Given the description of an element on the screen output the (x, y) to click on. 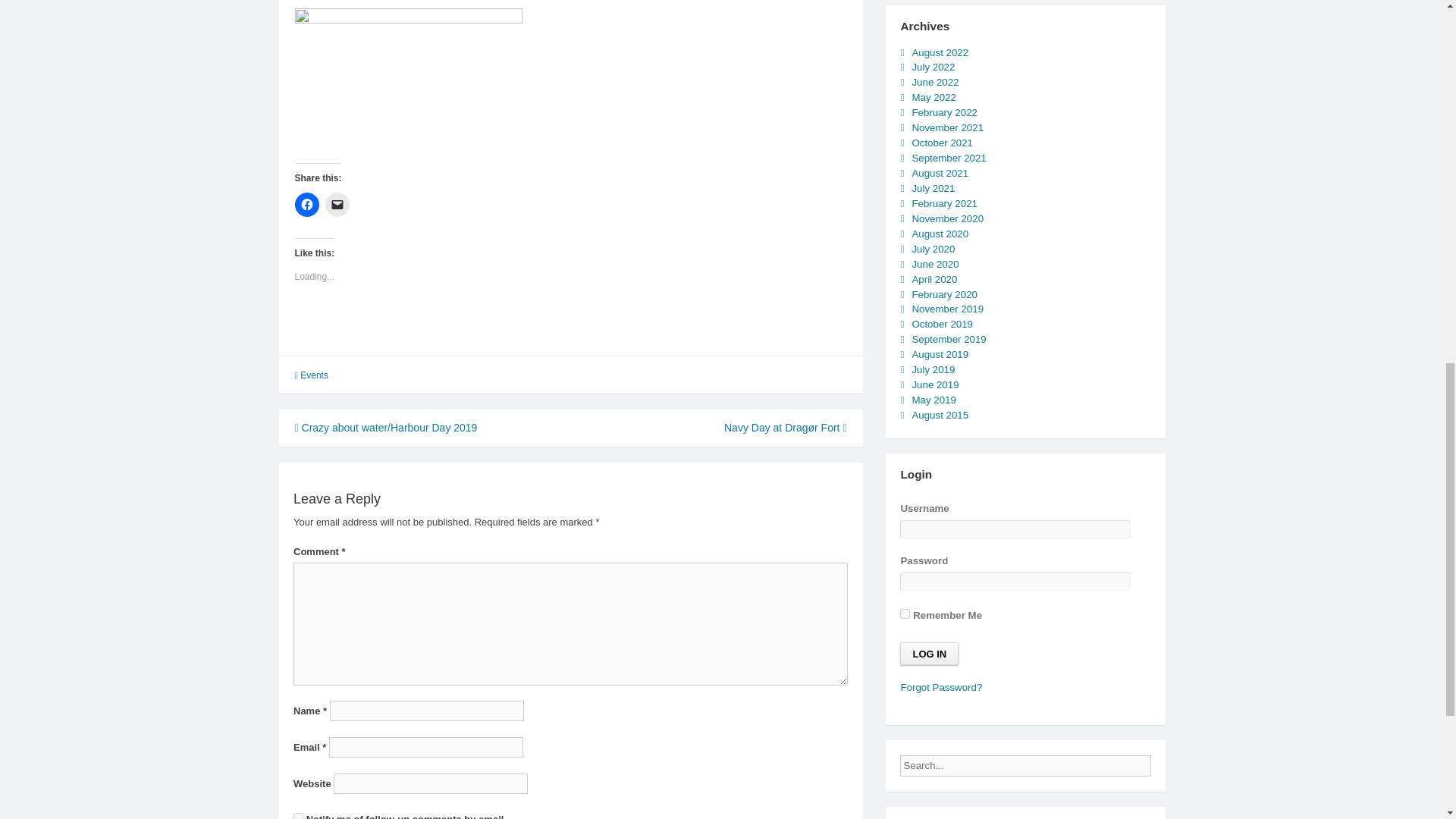
July 2022 (933, 66)
Search (1163, 761)
Search (1163, 761)
Events (314, 375)
subscribe (298, 816)
Click to email a link to a friend (336, 204)
Forgot Password (940, 686)
June 2022 (934, 81)
Log In (928, 653)
forever (904, 614)
Like or Reblog (569, 331)
Click to share on Facebook (306, 204)
August 2022 (939, 52)
